Given the description of an element on the screen output the (x, y) to click on. 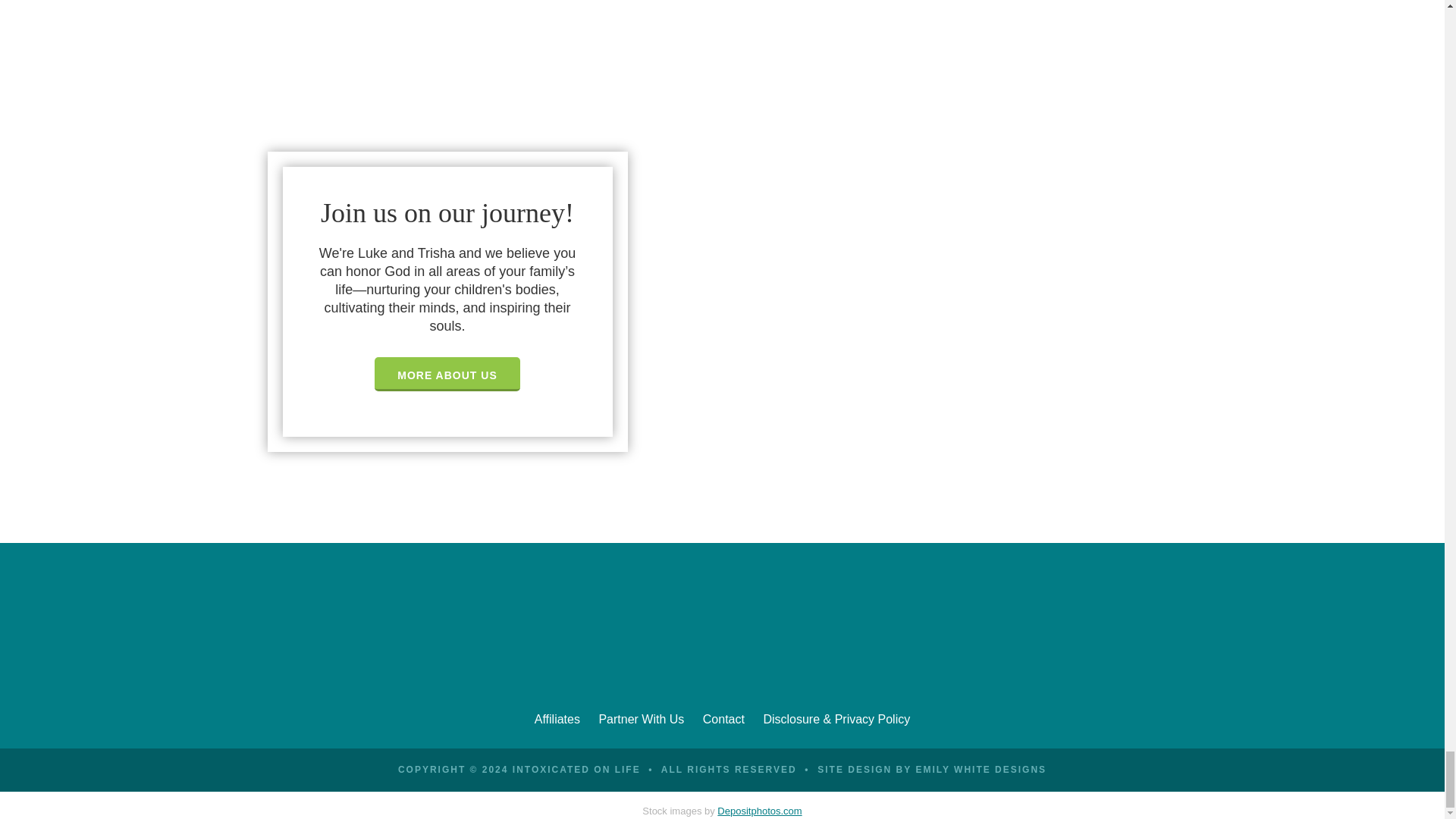
Emily White Designs (980, 769)
